Given the description of an element on the screen output the (x, y) to click on. 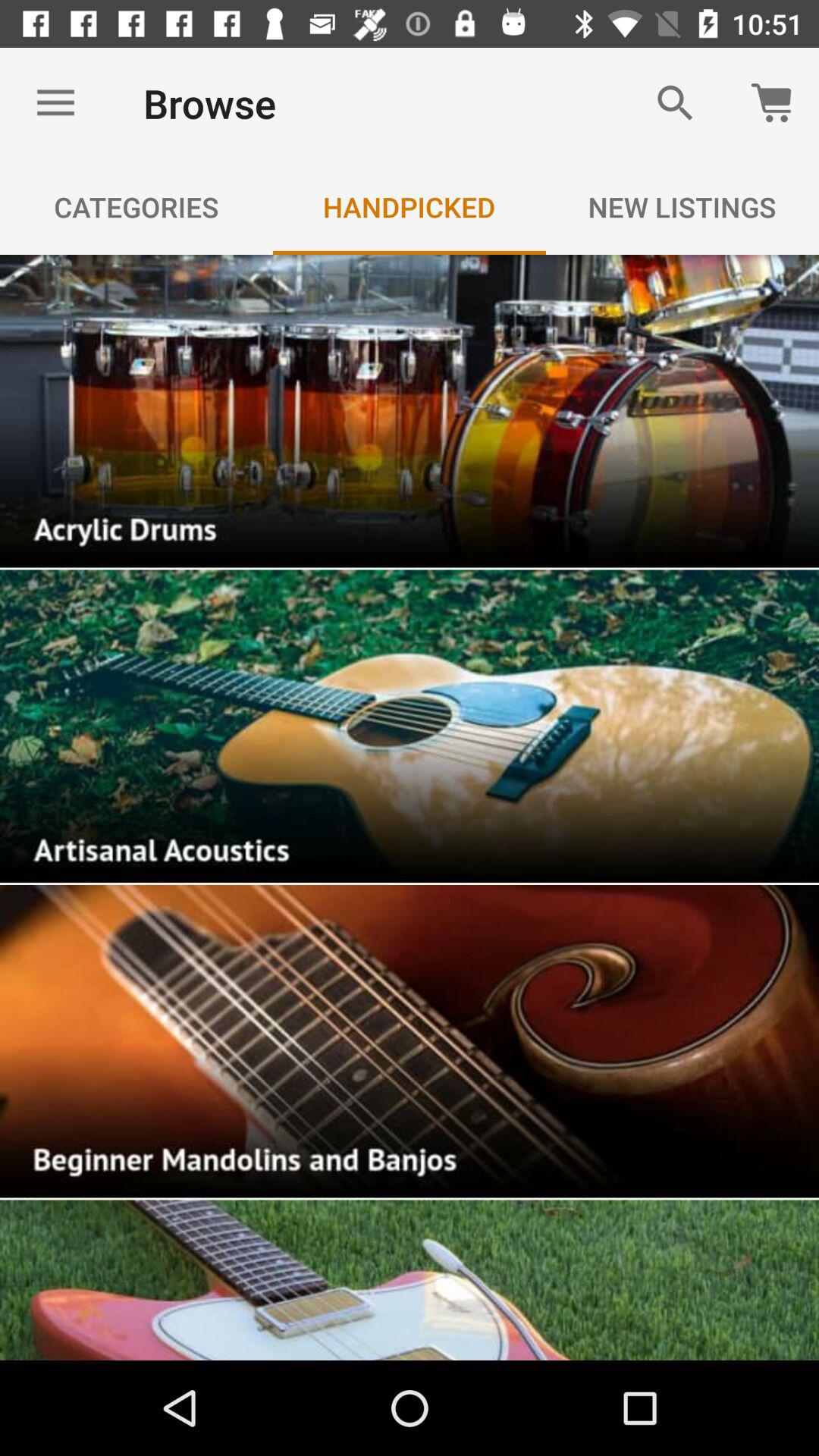
choose the icon above the new listings (675, 103)
